Given the description of an element on the screen output the (x, y) to click on. 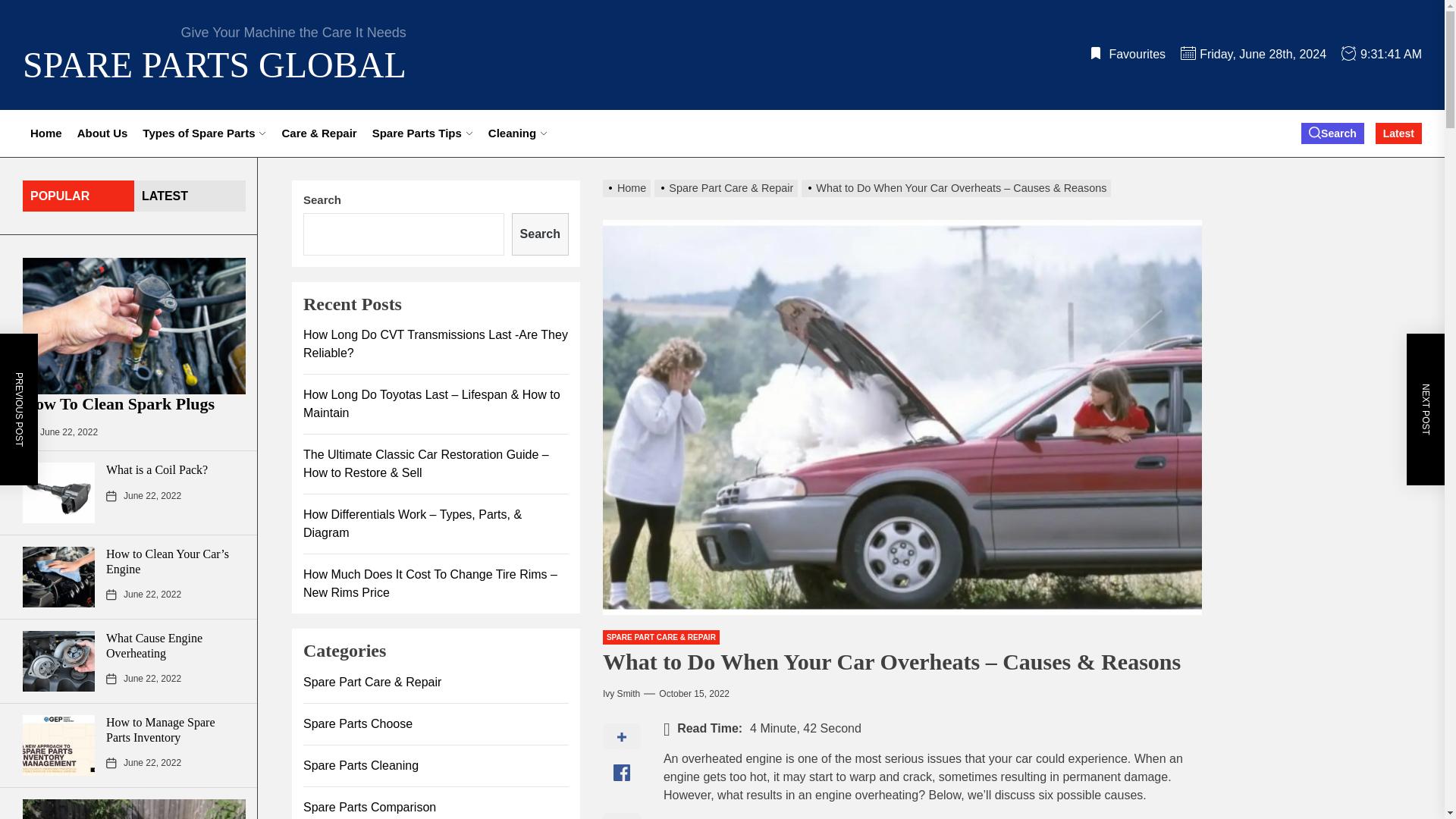
Spare Parts Tips (422, 133)
Types of Spare Parts (204, 133)
Latest (1398, 133)
Home (46, 133)
Favourites (1127, 53)
About Us (102, 133)
How to Manage Spare Parts Inventory (160, 728)
What is a Coil Pack? (157, 469)
Search (1332, 133)
How To Clean Spark Plugs (118, 403)
SPARE PARTS GLOBAL (214, 64)
What Cause Engine Overheating (154, 645)
Cleaning (517, 133)
